Given the description of an element on the screen output the (x, y) to click on. 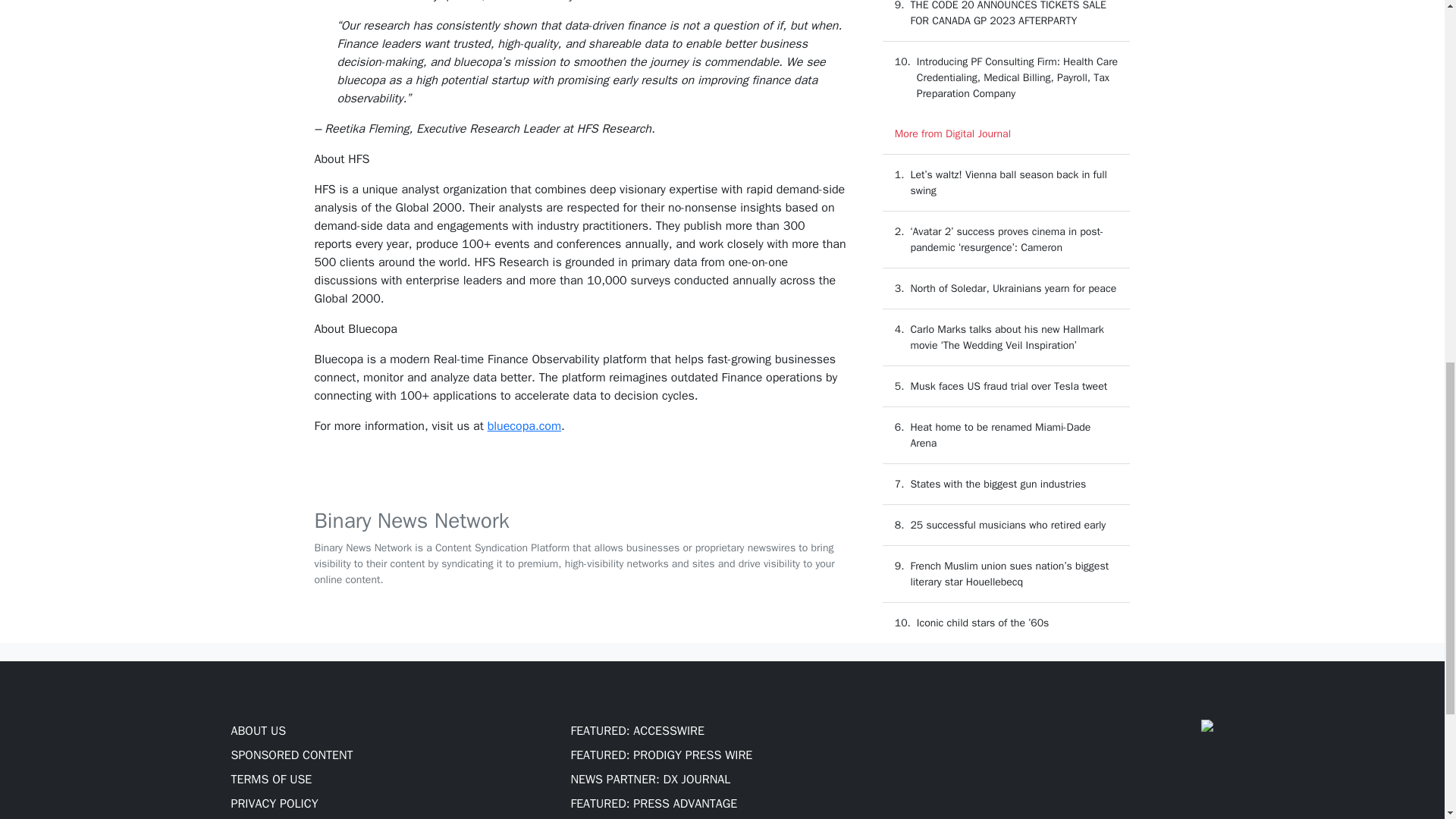
FEATURED: ACCESSWIRE (636, 730)
PRIVACY POLICY (273, 803)
Musk faces US fraud trial over Tesla tweet (1008, 386)
Heat home to be renamed Miami-Dade Arena (1000, 434)
bluecopa.com (523, 426)
North of Soledar, Ukrainians yearn for peace (1013, 287)
States with the biggest gun industries (998, 483)
SPONSORED CONTENT (291, 754)
ABOUT US (257, 730)
TERMS OF USE (270, 779)
FEATURED: PRODIGY PRESS WIRE (661, 754)
25 successful musicians who retired early (1007, 524)
